Given the description of an element on the screen output the (x, y) to click on. 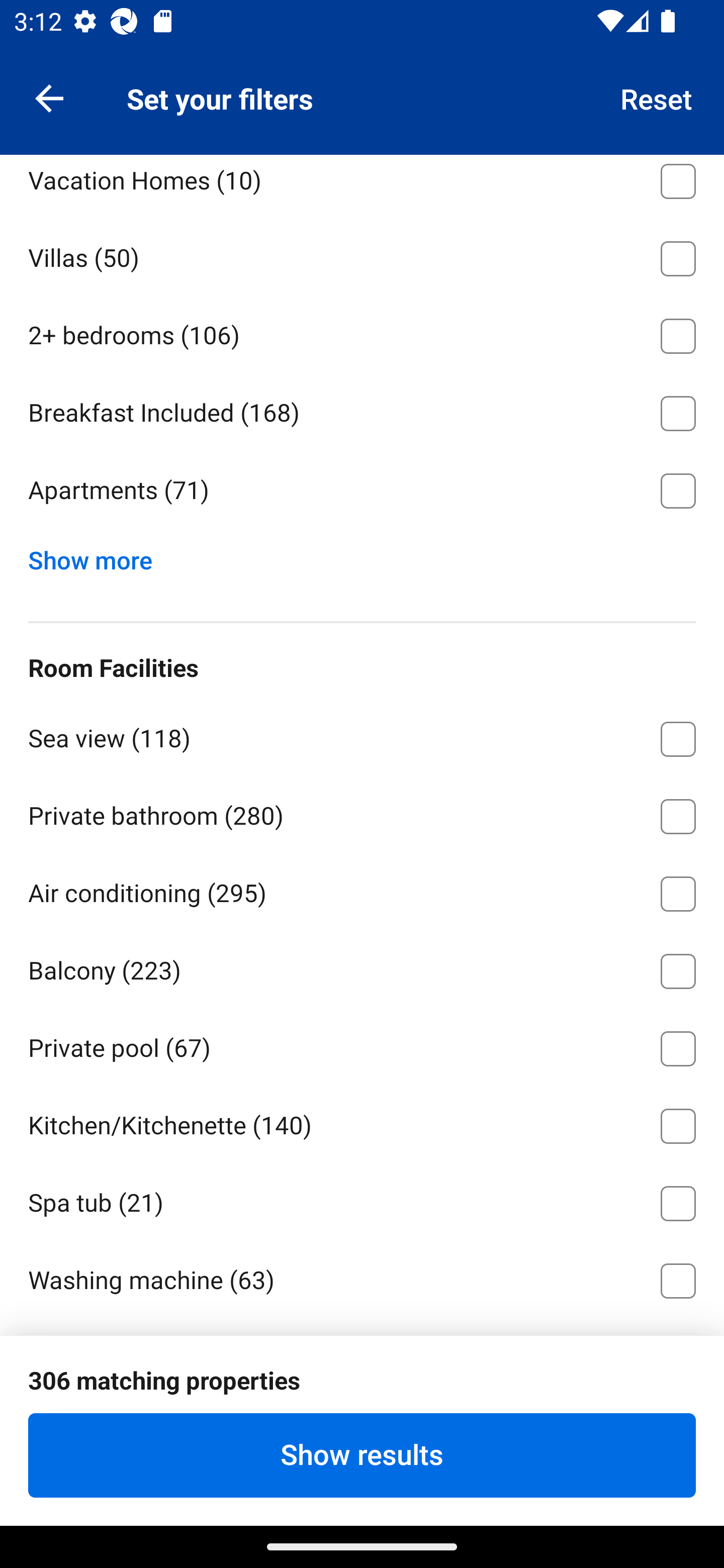
Navigate up (49, 97)
Reset (656, 97)
Vacation Homes ⁦(10) (361, 185)
Villas ⁦(50) (361, 255)
2+ bedrooms ⁦(106) (361, 332)
Breakfast Included ⁦(168) (361, 409)
Apartments ⁦(71) (361, 490)
Show more (97, 555)
Sea view ⁦(118) (361, 735)
Private bathroom ⁦(280) (361, 812)
Air conditioning ⁦(295) (361, 890)
Balcony ⁦(223) (361, 967)
Private pool ⁦(67) (361, 1044)
Kitchen/Kitchenette ⁦(140) (361, 1122)
Spa tub ⁦(21) (361, 1199)
Washing machine ⁦(63) (361, 1276)
Show results (361, 1454)
